Given the description of an element on the screen output the (x, y) to click on. 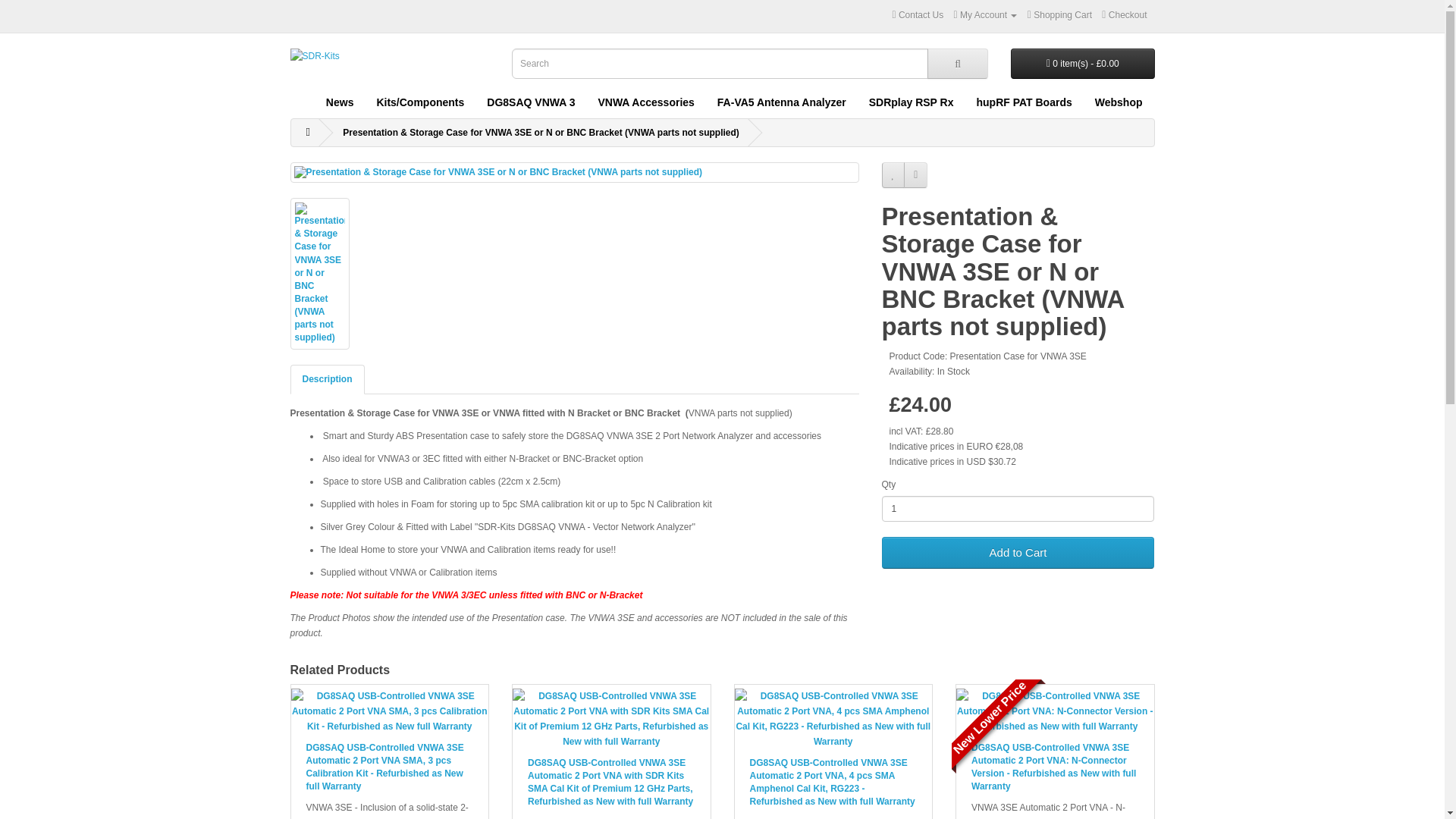
My Account (985, 14)
News (339, 101)
Checkout (1124, 14)
 Contact Us (917, 14)
1 (1017, 508)
SDRplay RSP Rx (911, 101)
DG8SAQ VNWA 3 (531, 101)
Shopping Cart (1059, 14)
SDR-Kits (346, 55)
